Given the description of an element on the screen output the (x, y) to click on. 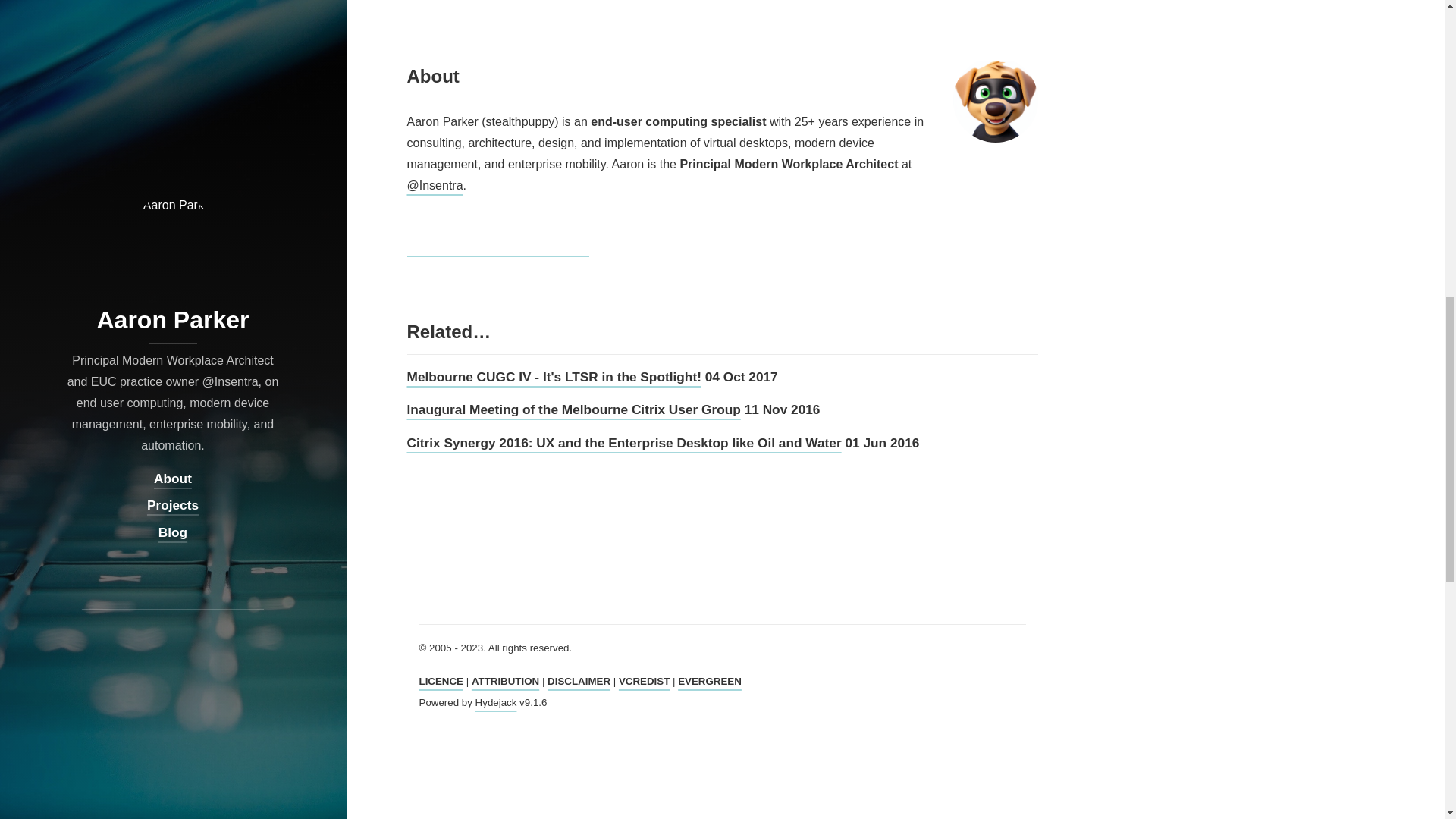
Melbourne CUGC IV - It's LTSR in the Spotlight! (553, 376)
VCREDIST (643, 681)
ATTRIBUTION (504, 681)
Inaugural Meeting of the Melbourne Citrix User Group (572, 409)
DISCLAIMER (578, 681)
EVERGREEN (709, 681)
Hydejack (496, 702)
LICENCE (441, 681)
